Given the description of an element on the screen output the (x, y) to click on. 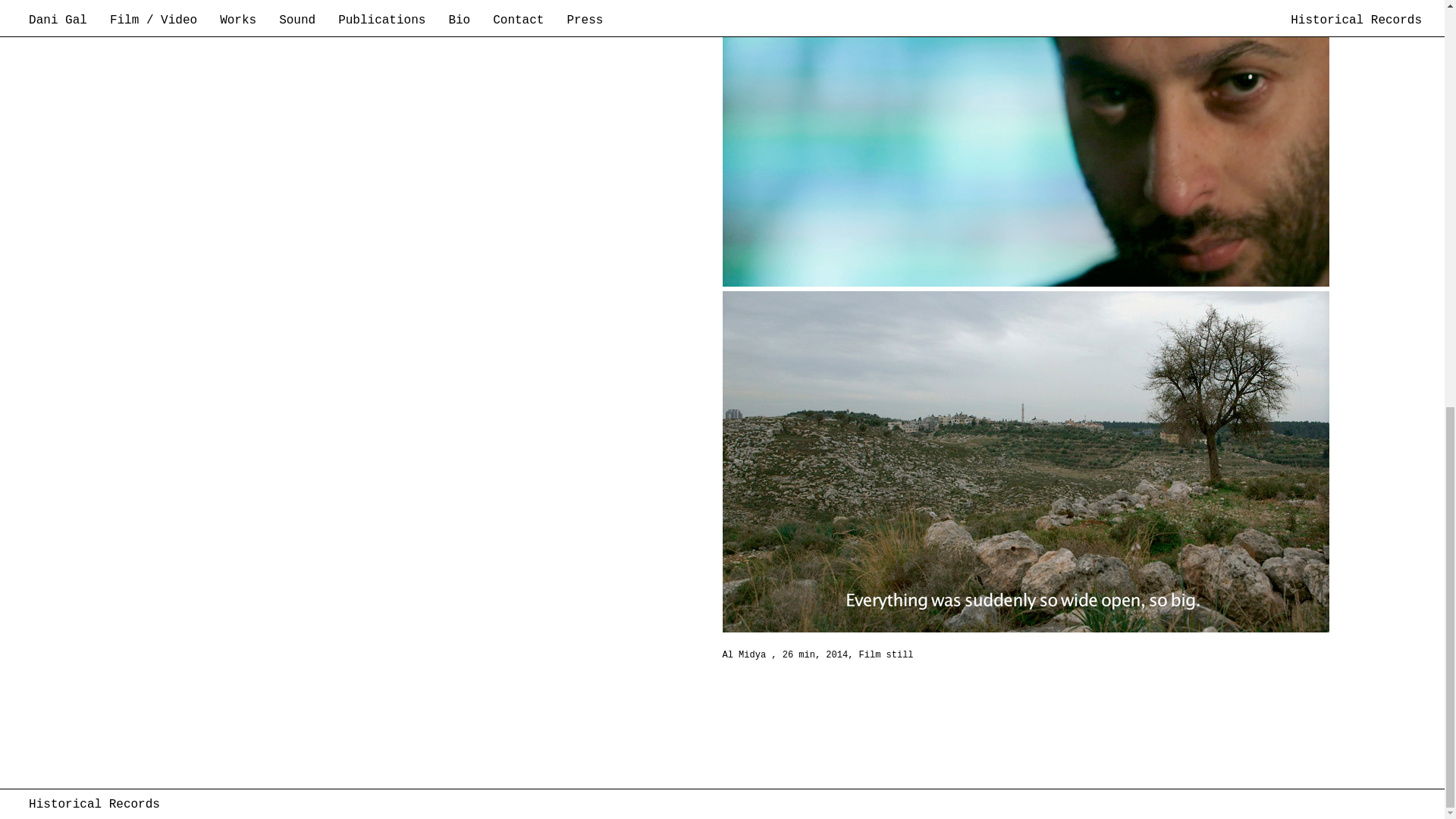
Historical Records (94, 1)
